Given the description of an element on the screen output the (x, y) to click on. 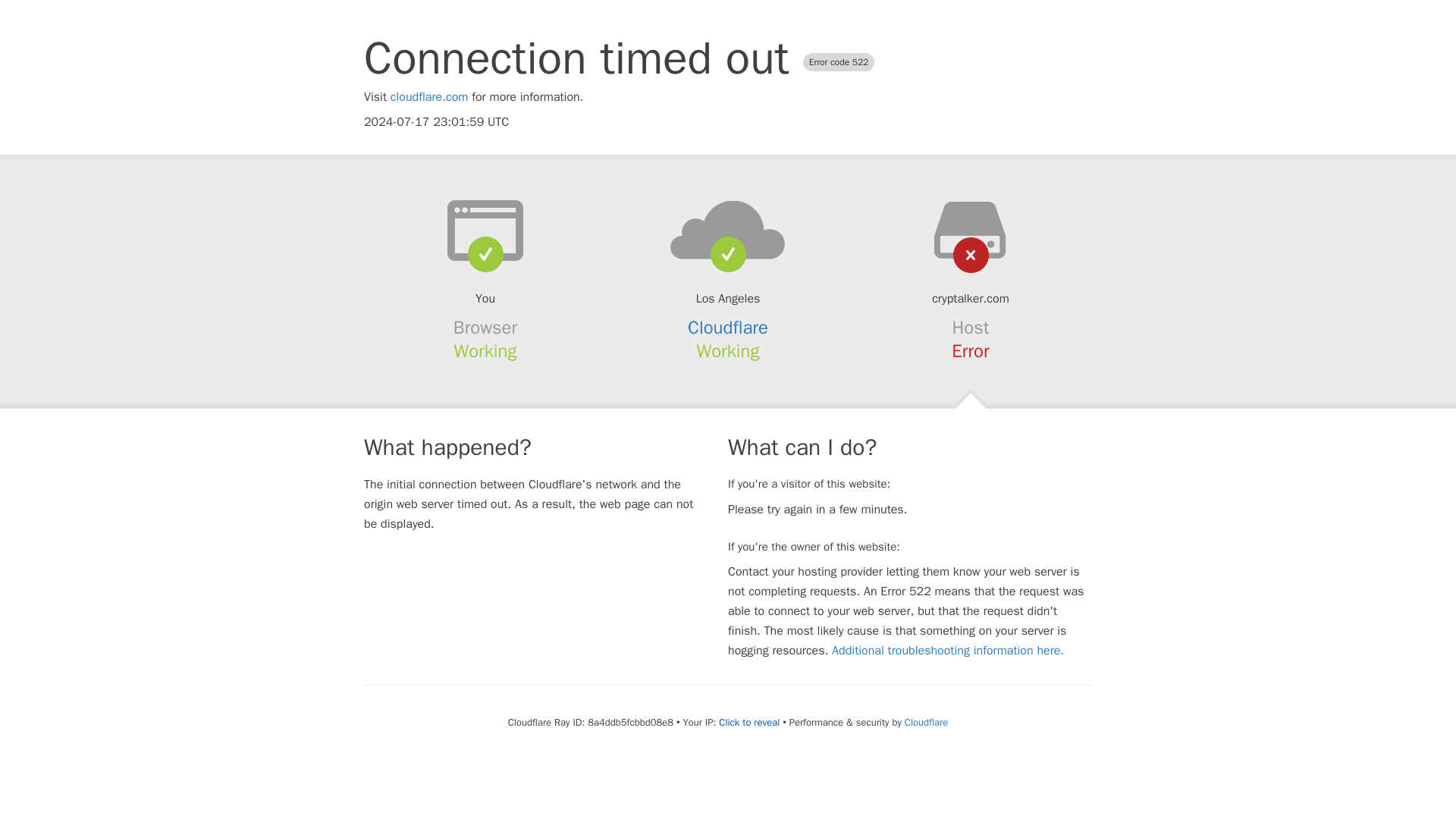
Cloudflare (925, 721)
Additional troubleshooting information here. (947, 650)
Click to reveal (748, 722)
cloudflare.com (429, 96)
Cloudflare (727, 327)
